Given the description of an element on the screen output the (x, y) to click on. 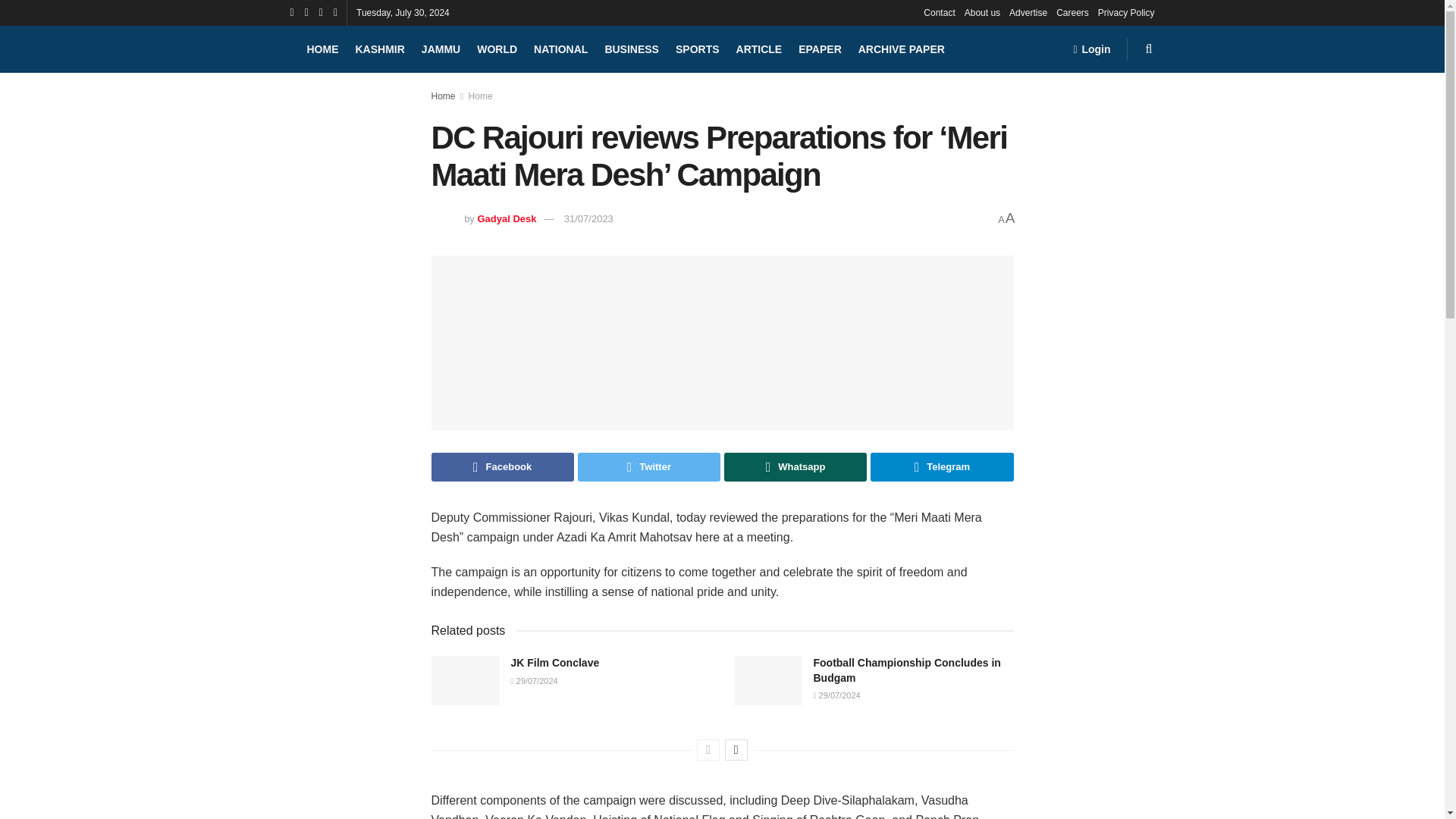
Next (736, 749)
ARTICLE (759, 48)
KASHMIR (379, 48)
Facebook (501, 466)
Home (480, 95)
Telegram (941, 466)
Whatsapp (794, 466)
ARCHIVE PAPER (901, 48)
Previous (708, 749)
About us (981, 12)
Gadyal Desk (506, 218)
JK Film Conclave (555, 662)
Home (442, 95)
SPORTS (697, 48)
Twitter (649, 466)
